Given the description of an element on the screen output the (x, y) to click on. 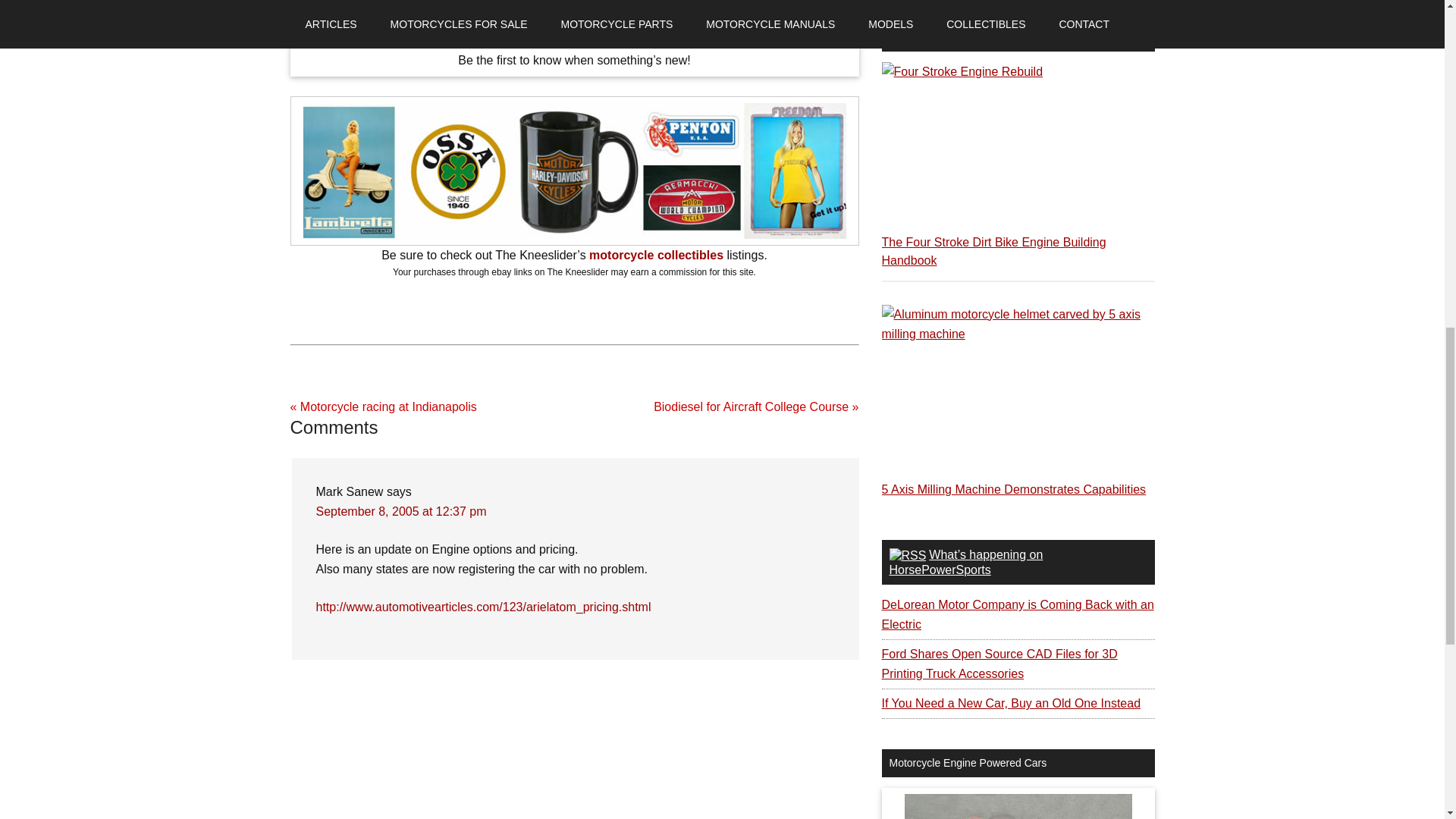
September 8, 2005 at 12:37 pm (400, 511)
5 Axis Milling Machine Demonstrates Capabilities (1012, 489)
If You Need a New Car, Buy an Old One Instead (1010, 703)
DeLorean Motor Company is Coming Back with an Electric (1016, 614)
motorcycle collectibles (656, 254)
The Four Stroke Dirt Bike Engine Building Handbook (992, 250)
Bill Vukovitch Drake Harley Davidson powered midget racer (1017, 806)
